Given the description of an element on the screen output the (x, y) to click on. 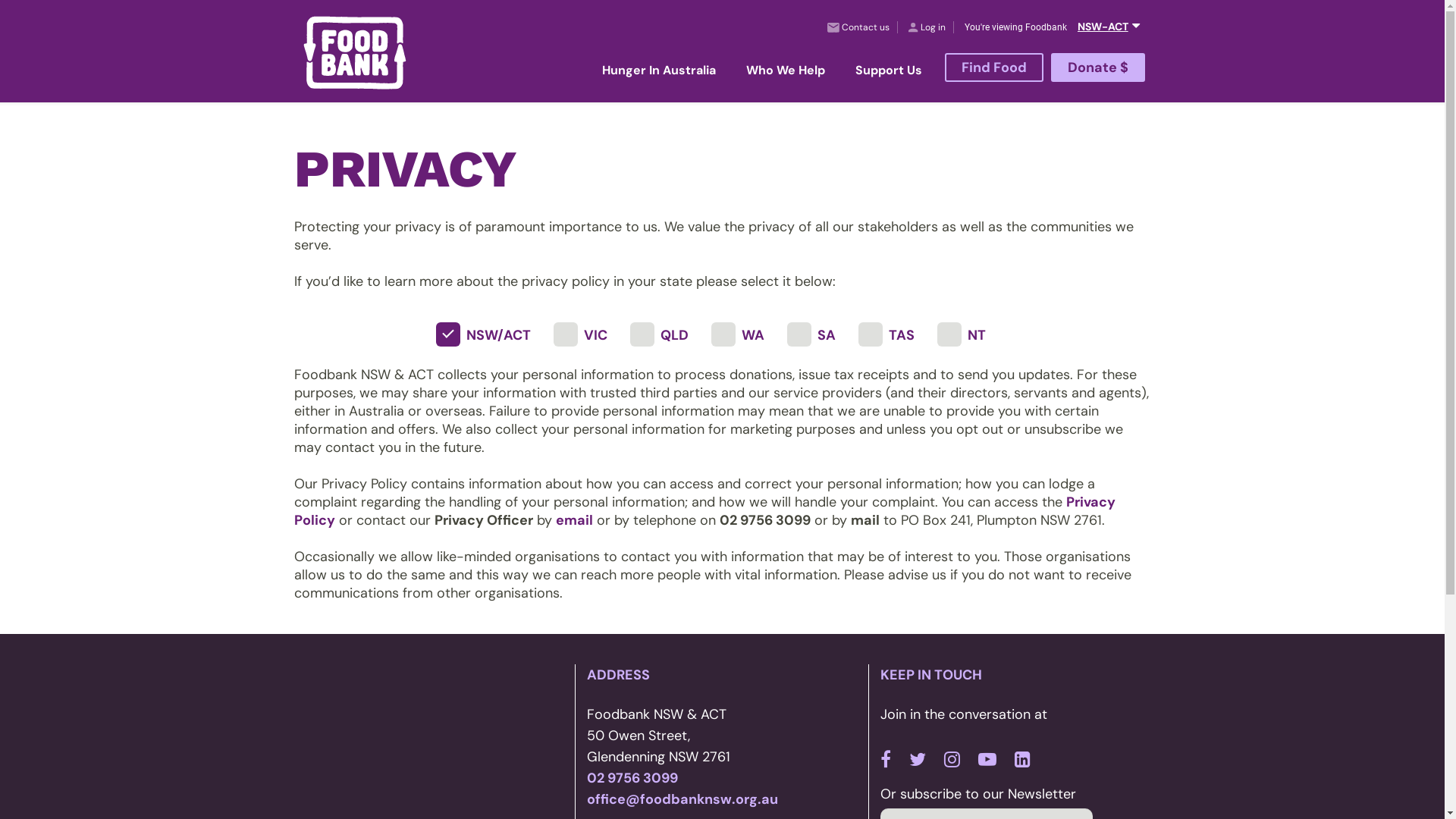
Support Us Element type: text (888, 70)
Donate $ Element type: text (1097, 67)
office@foodbanknsw.org.au Element type: text (682, 799)
Who We Help Element type: text (785, 70)
email Element type: text (573, 520)
Privacy Policy Element type: text (704, 510)
Find Food Element type: text (993, 67)
Hunger In Australia Element type: text (658, 70)
Log in Element type: text (926, 27)
02 9756 3099 Element type: text (631, 777)
Contact us Element type: text (858, 27)
